Given the description of an element on the screen output the (x, y) to click on. 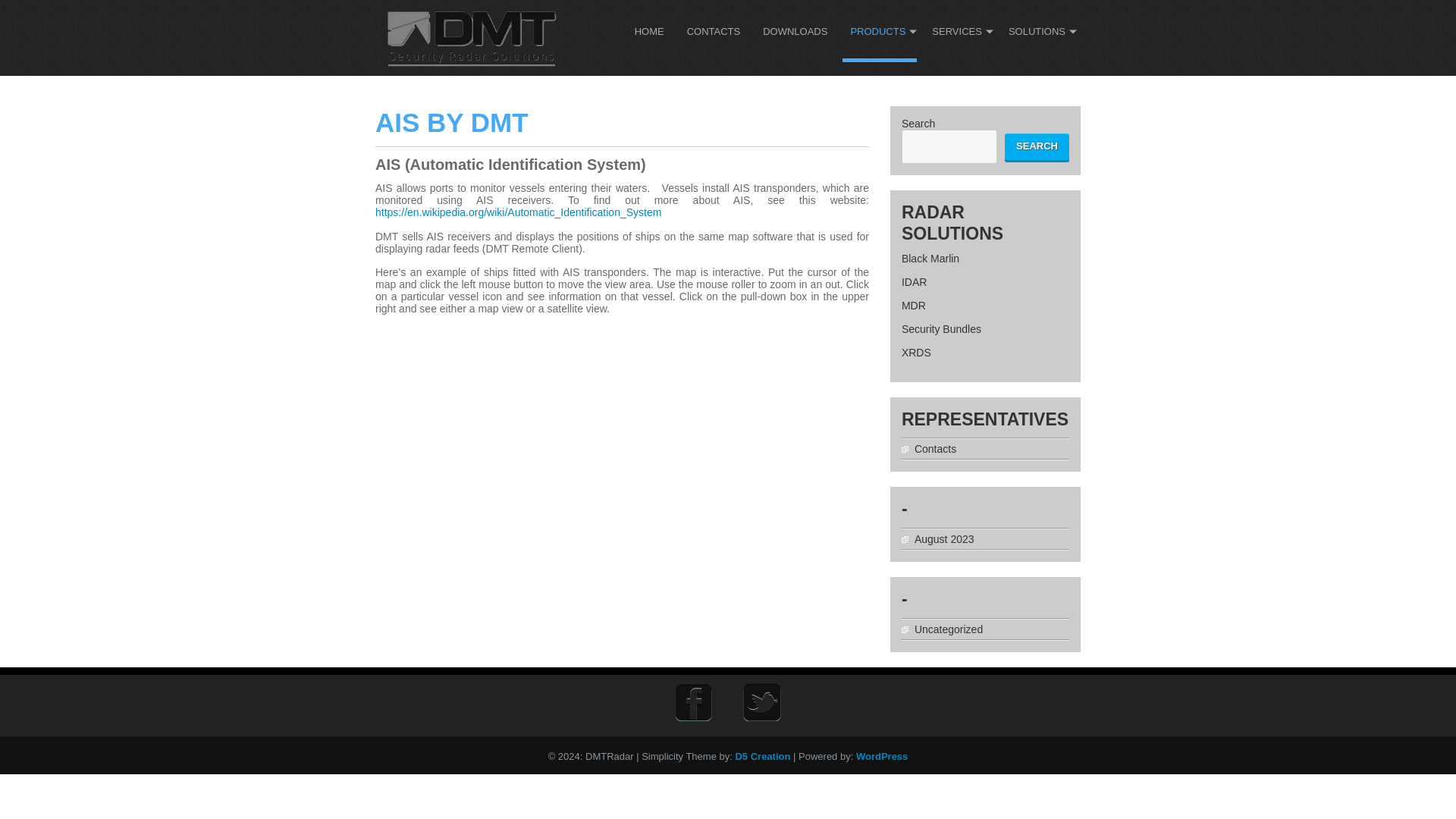
MDR (913, 305)
SERVICES (958, 34)
CONTACTS (713, 34)
Black Marlin (930, 258)
Security Bundles (941, 328)
IDAR (913, 282)
SEARCH (1036, 146)
SOLUTIONS (1039, 34)
DOWNLOADS (794, 34)
PRODUCTS (880, 34)
